Given the description of an element on the screen output the (x, y) to click on. 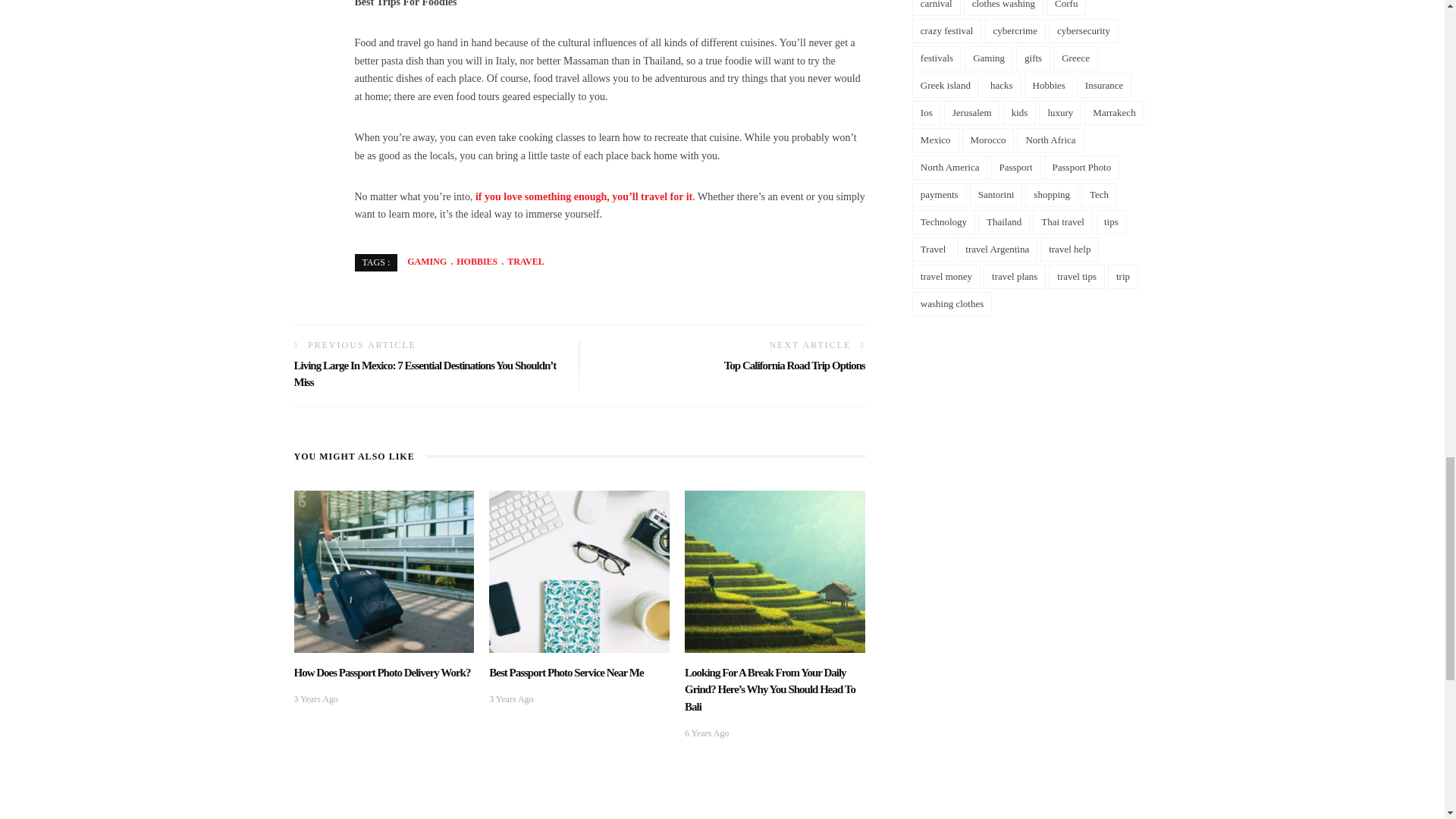
How Does Passport Photo Delivery Work? (382, 672)
Best Passport Photo Service Near Me (566, 672)
Top California Road Trip Options (793, 365)
How Does Passport Photo Delivery Work? (384, 570)
Travel (520, 261)
Hobbies (471, 261)
Best Passport Photo Service Near Me (579, 570)
Gaming (426, 261)
